Given the description of an element on the screen output the (x, y) to click on. 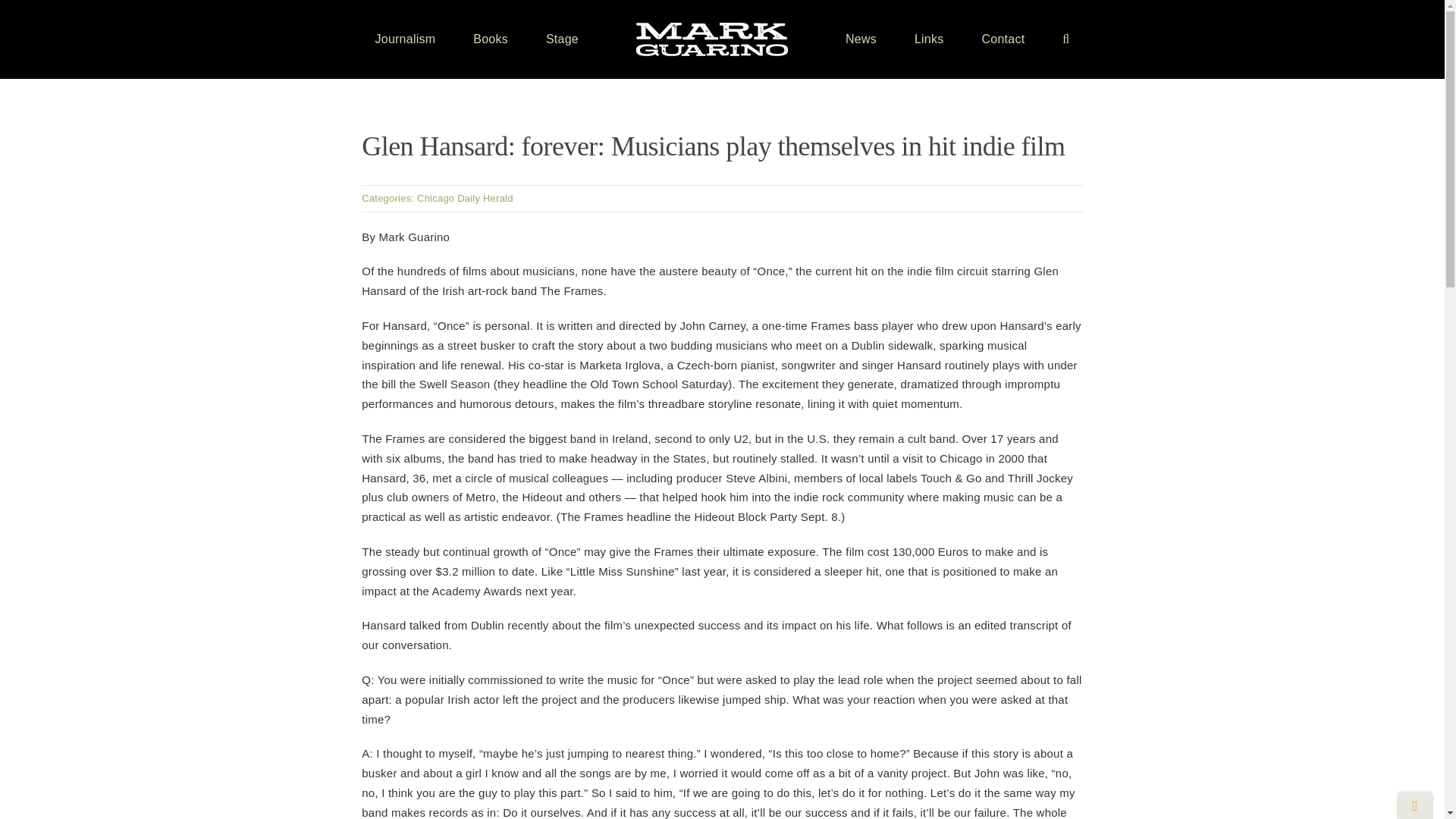
Books (490, 39)
News (860, 39)
Contact (1003, 39)
Toggle Sliding Bar Area (1414, 805)
Journalism (405, 39)
Stage (562, 39)
Chicago Daily Herald (464, 197)
